Given the description of an element on the screen output the (x, y) to click on. 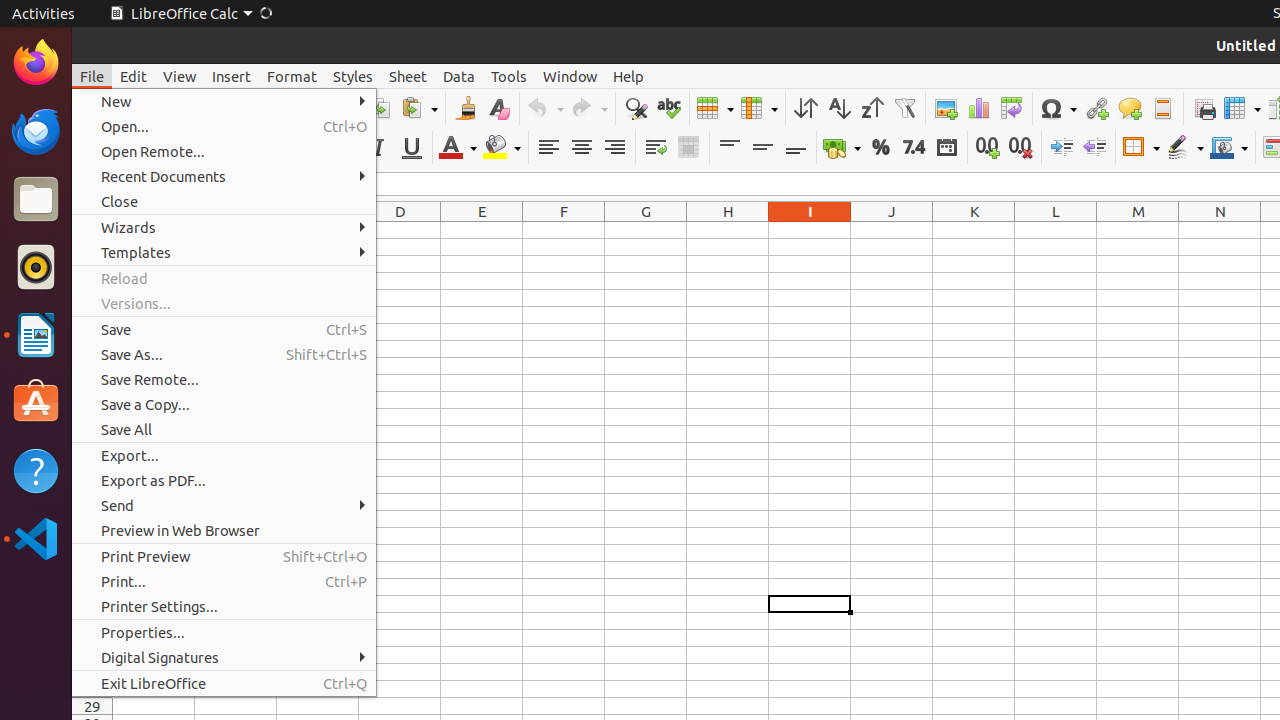
Increase Element type: push-button (1061, 147)
Symbol Element type: push-button (1058, 108)
Border Color Element type: push-button (1229, 147)
Align Center Element type: push-button (581, 147)
Sort Element type: push-button (805, 108)
